Given the description of an element on the screen output the (x, y) to click on. 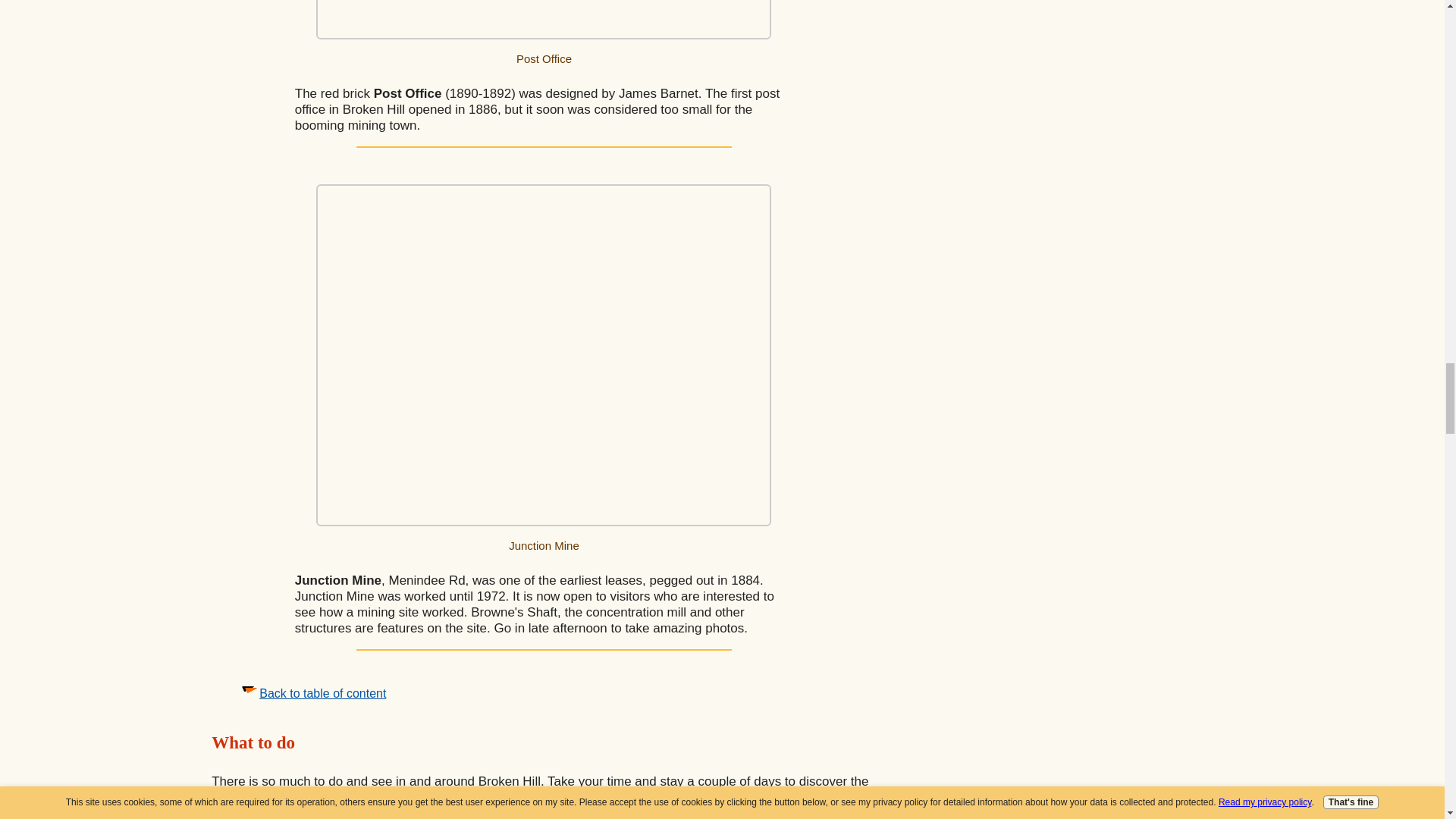
Impressive brick building with a large tower (543, 19)
